Given the description of an element on the screen output the (x, y) to click on. 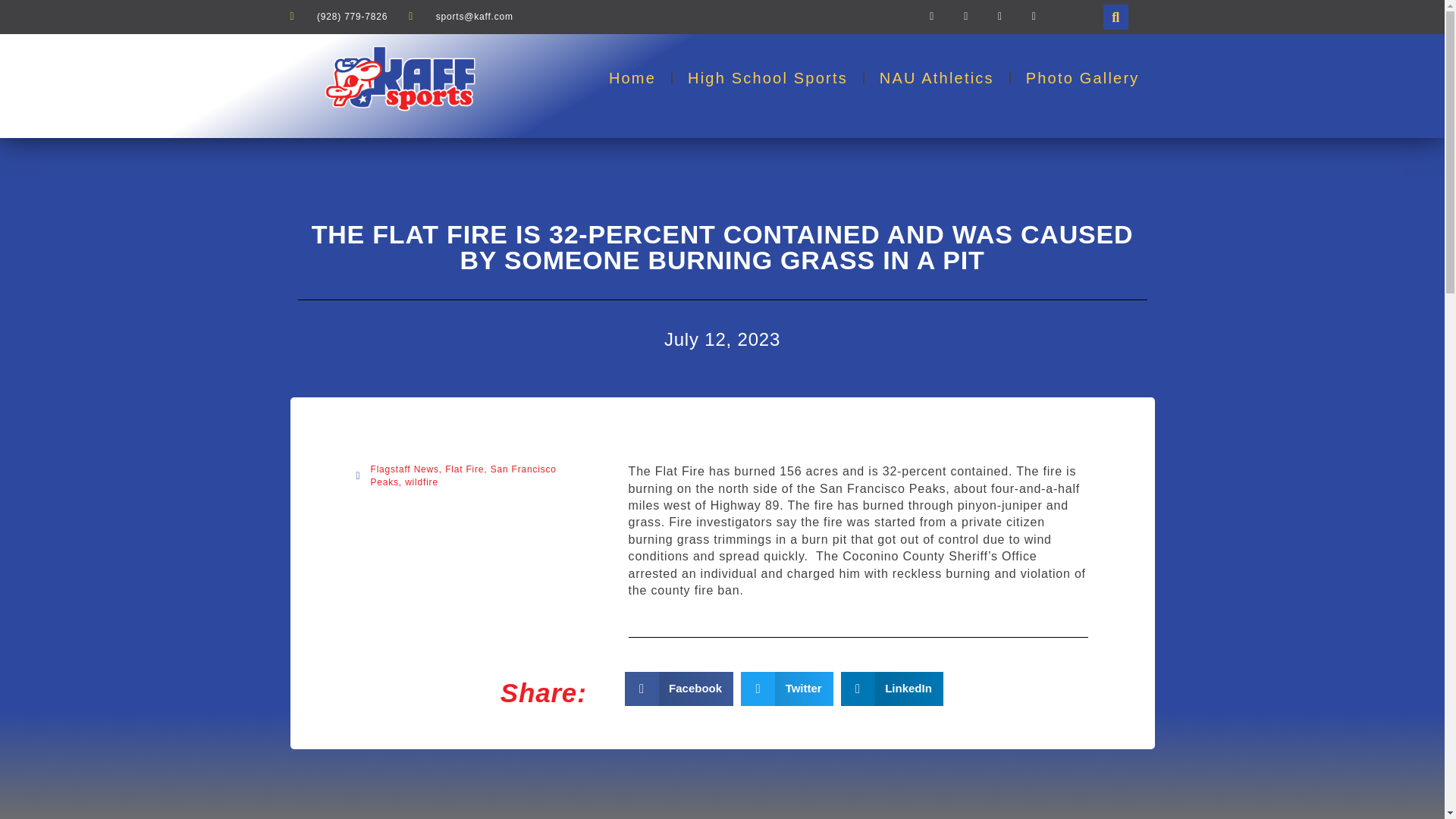
Flat Fire (464, 469)
Flagstaff News (403, 469)
High School Sports (767, 77)
NAU Athletics (936, 77)
Photo Gallery (1082, 77)
wildfire (421, 481)
Home (632, 77)
San Francisco Peaks (462, 475)
